Given the description of an element on the screen output the (x, y) to click on. 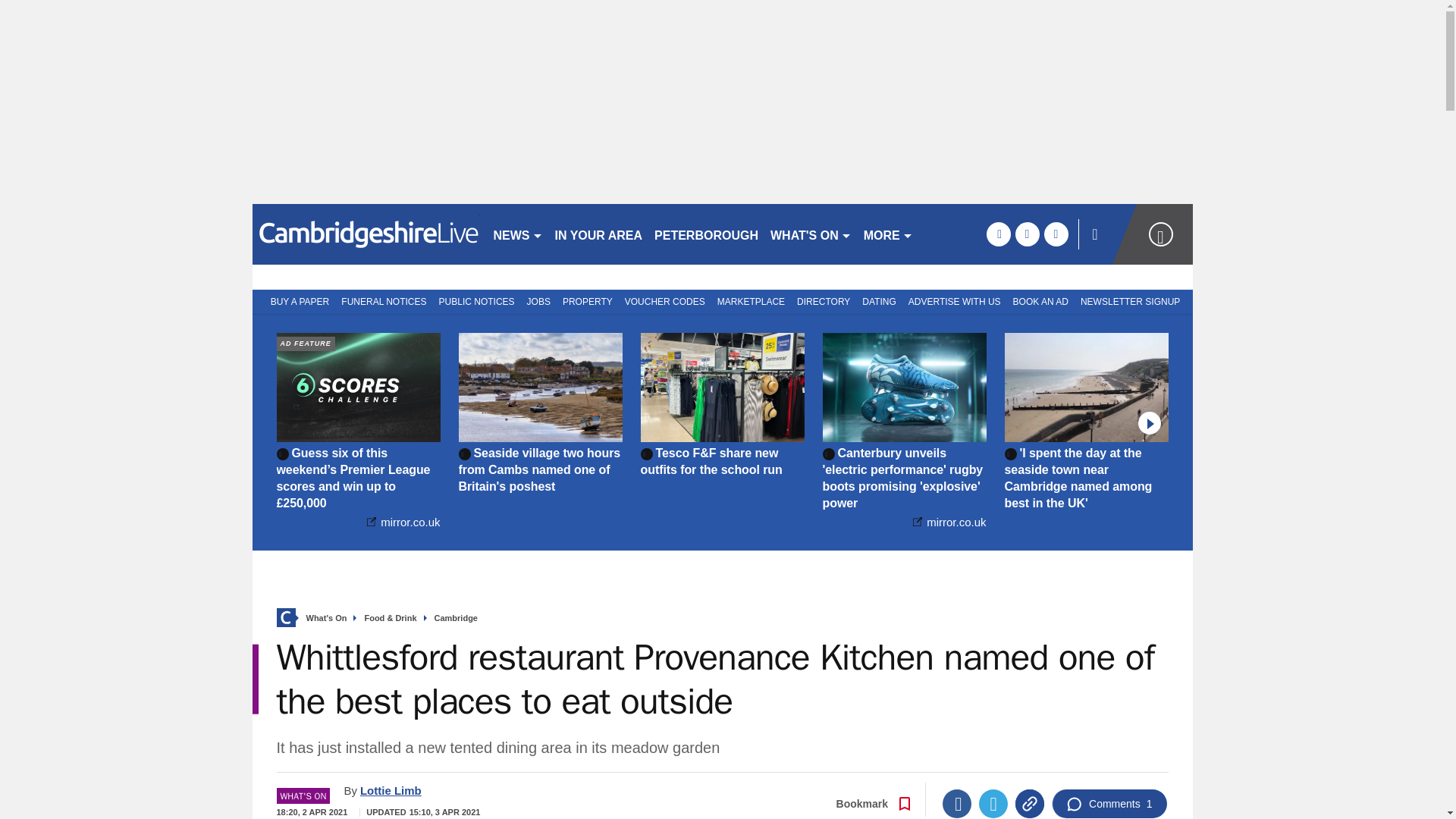
PETERBOROUGH (705, 233)
Facebook (956, 803)
NEWS (517, 233)
Twitter (992, 803)
Comments (1108, 803)
facebook (997, 233)
WHAT'S ON (810, 233)
twitter (1026, 233)
instagram (1055, 233)
cambridgenews (365, 233)
